Given the description of an element on the screen output the (x, y) to click on. 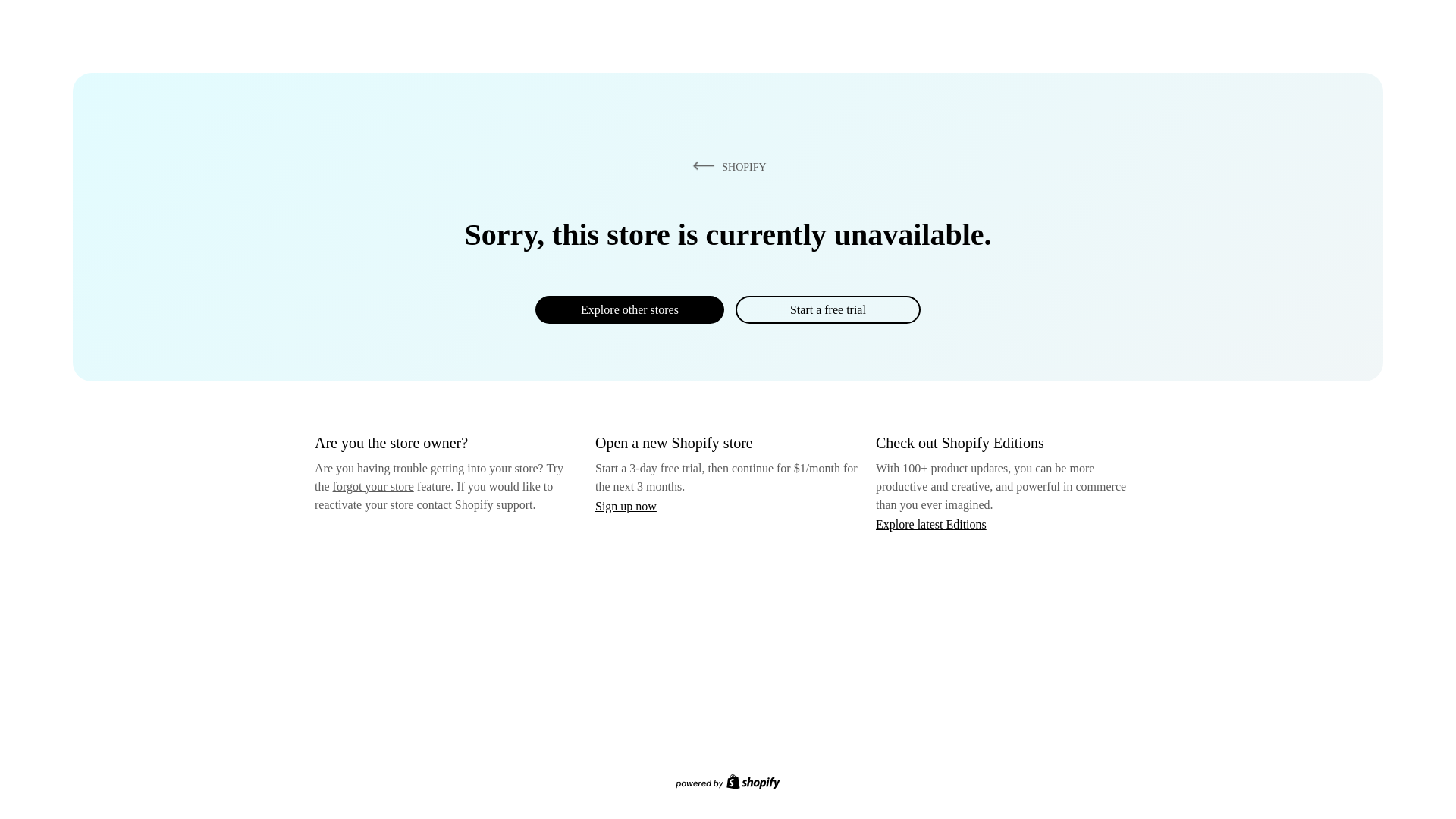
SHOPIFY (726, 166)
forgot your store (373, 486)
Start a free trial (827, 309)
Shopify support (493, 504)
Explore other stores (629, 309)
Explore latest Editions (931, 523)
Sign up now (625, 505)
